Given the description of an element on the screen output the (x, y) to click on. 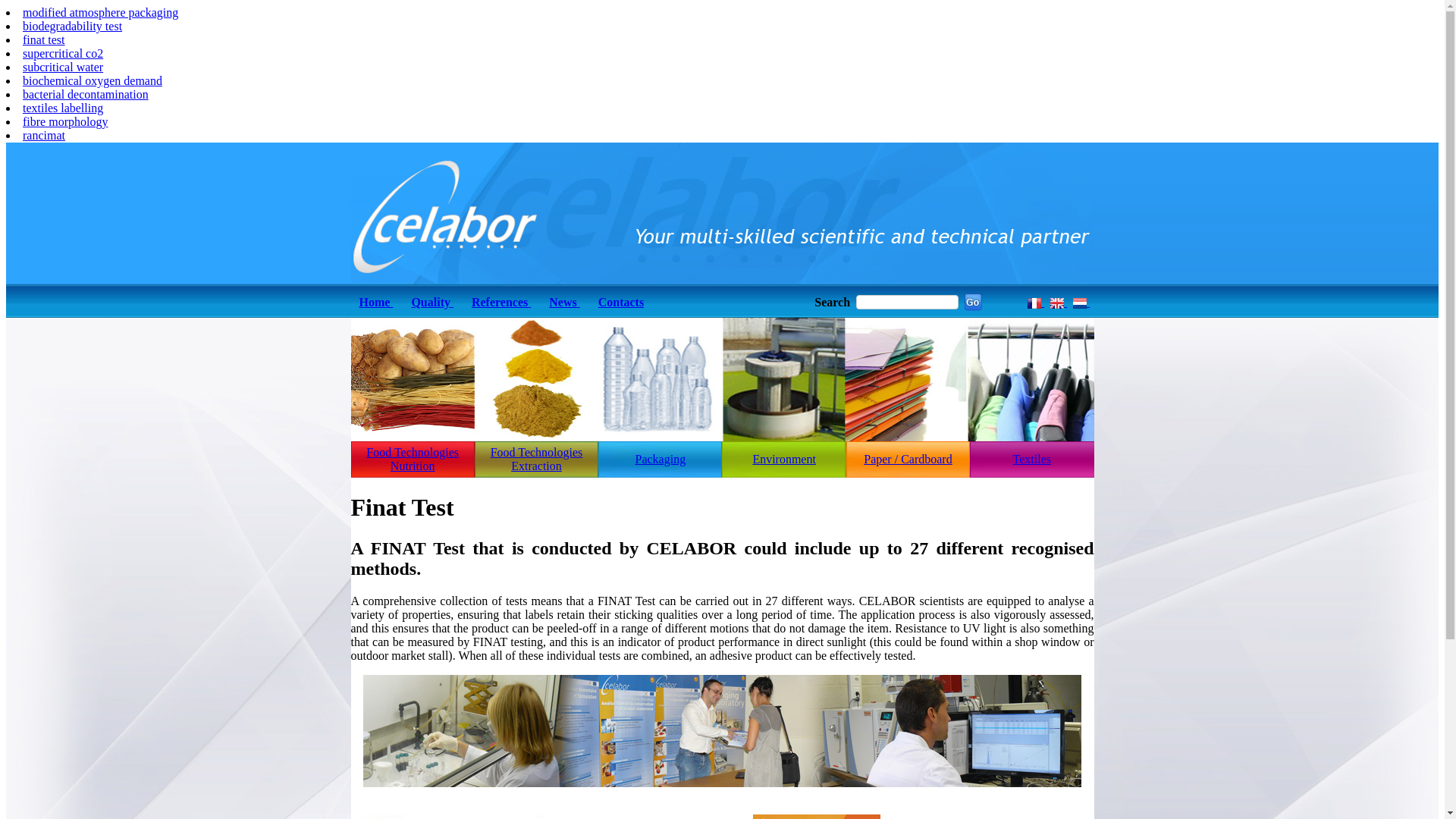
supercritical co2 Element type: text (62, 53)
rancimat Element type: text (43, 134)
Home Element type: text (376, 301)
biodegradability test Element type: text (72, 25)
Environment Element type: text (783, 457)
Quality Element type: text (432, 301)
modified atmosphere packaging Element type: text (100, 12)
Food Technologies
Extraction Element type: text (536, 459)
finat test Element type: text (43, 39)
Textiles Element type: text (1031, 459)
Food Technologies
Nutrition Element type: text (412, 458)
Contacts Element type: text (620, 301)
textiles labelling Element type: text (62, 107)
bacterial decontamination Element type: text (85, 93)
Packaging Element type: text (659, 459)
Textiles Element type: text (1032, 457)
Paper / Cardboard Element type: text (907, 457)
Food Technologies
Nutrition Element type: text (411, 459)
News Element type: text (564, 301)
Food Technologies
Extraction Element type: text (536, 458)
References Element type: text (500, 301)
Paper / Cardboard Element type: text (907, 459)
fibre morphology Element type: text (64, 121)
Packaging Element type: text (659, 457)
subcritical water Element type: text (62, 66)
biochemical oxygen demand Element type: text (92, 80)
Environment Element type: text (783, 459)
